Given the description of an element on the screen output the (x, y) to click on. 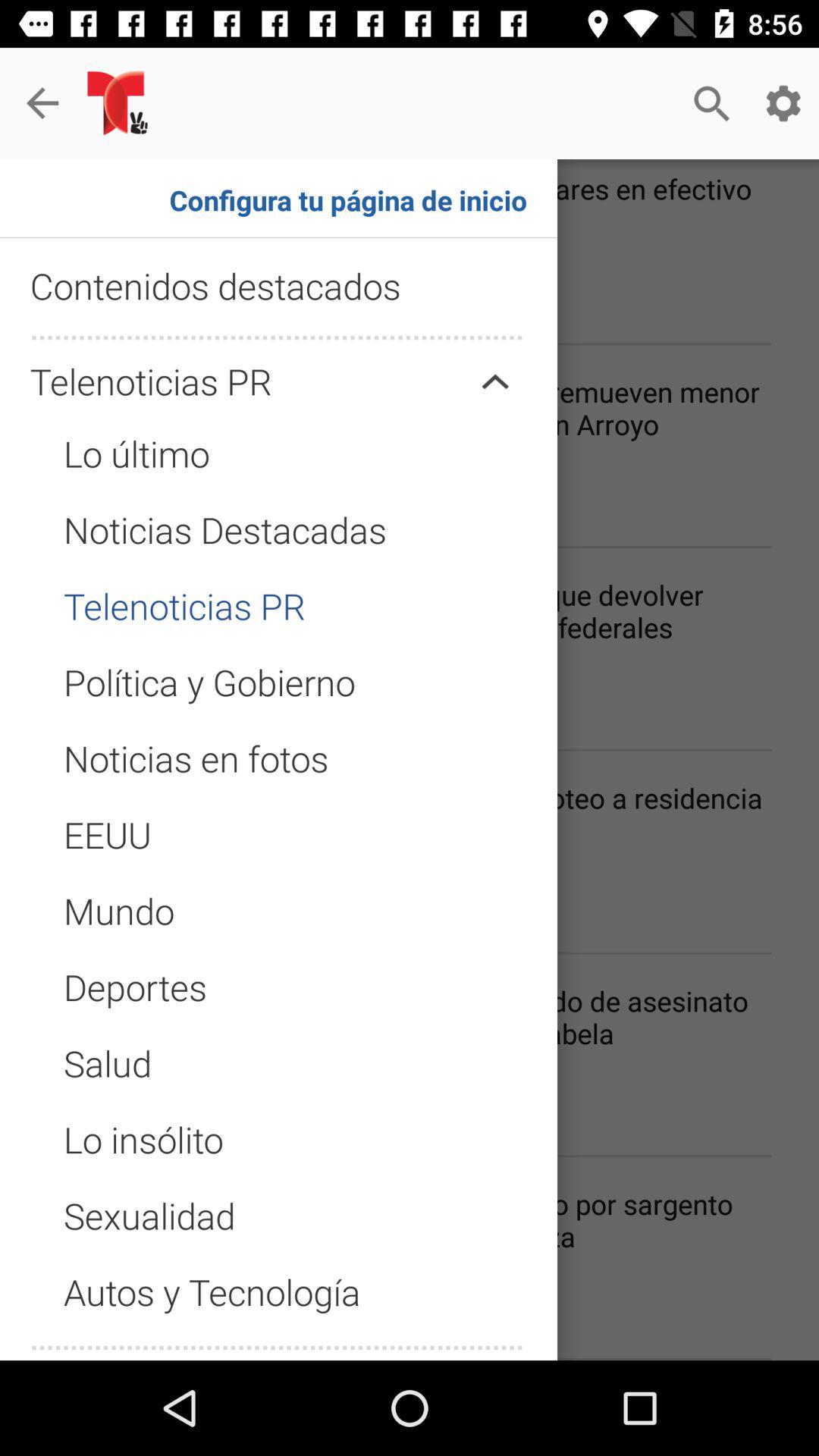
click on the image which is at the top left corner (120, 103)
